Given the description of an element on the screen output the (x, y) to click on. 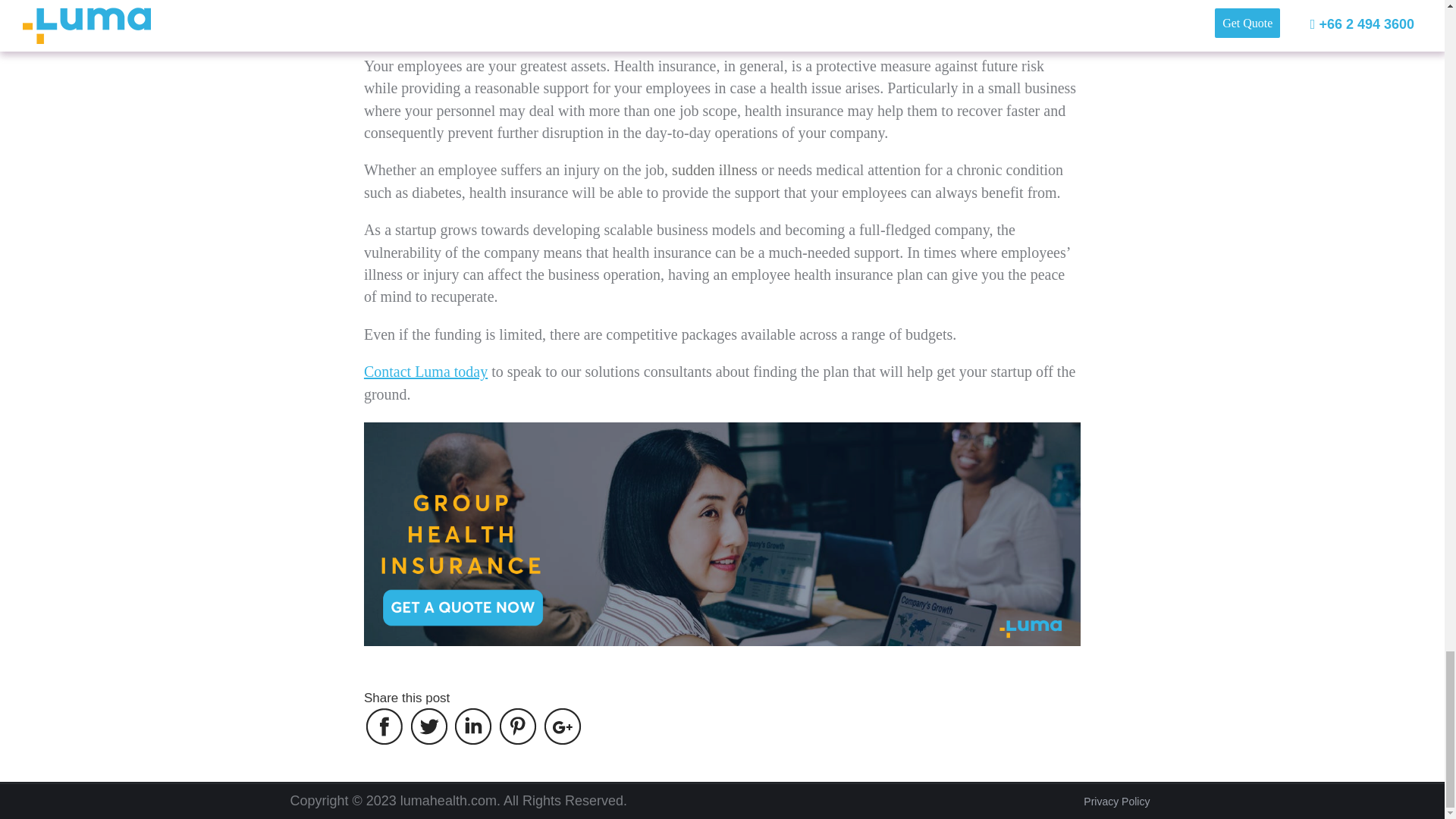
facebook (384, 726)
email (561, 726)
Contact Luma today (425, 371)
linkedin (473, 726)
twitter (429, 726)
